Given the description of an element on the screen output the (x, y) to click on. 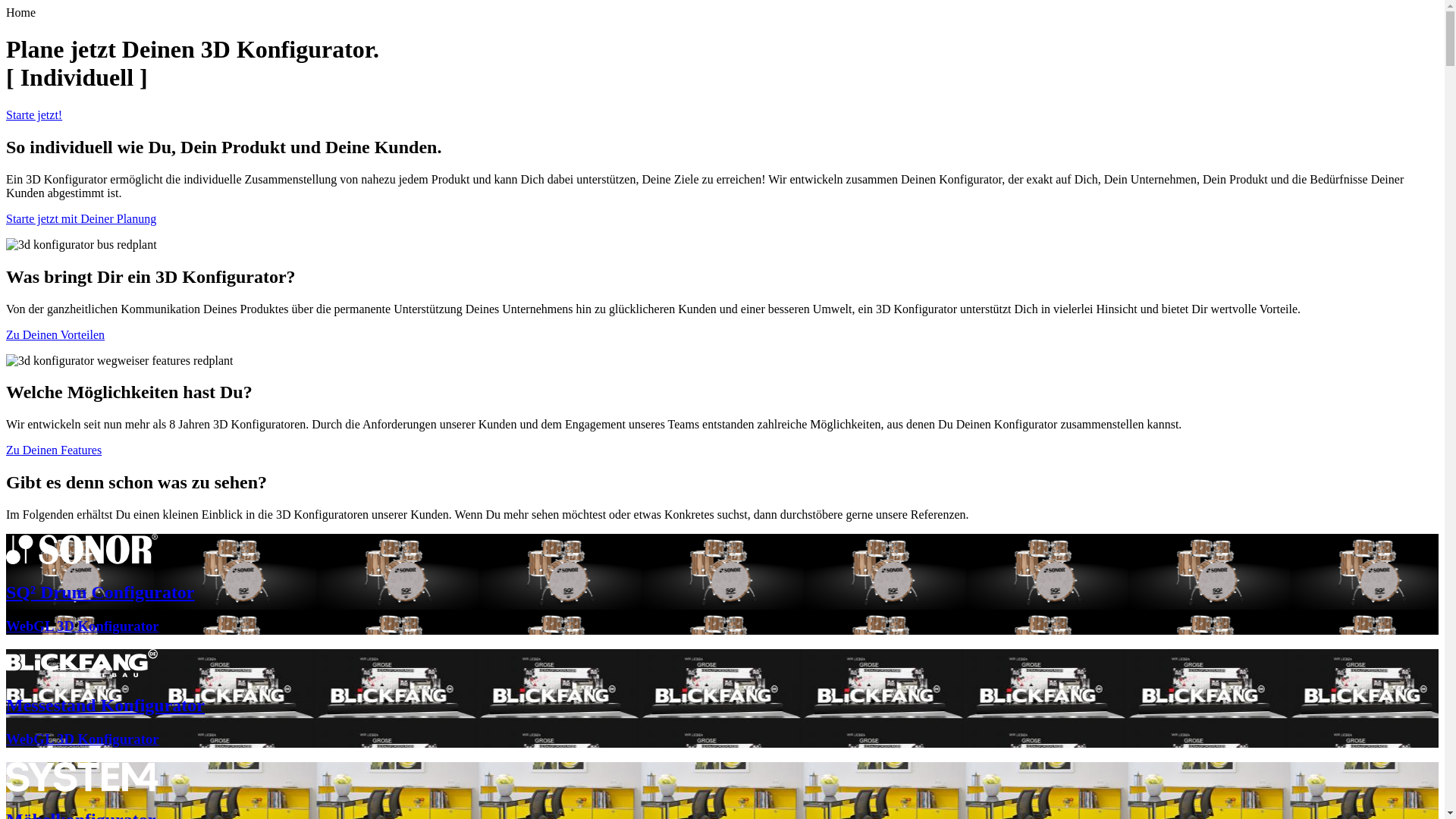
Starte jetzt! Element type: text (34, 114)
Messestand Konfigurator
WebGL 3D Konfigurator Element type: text (722, 698)
Zu Deinen Features Element type: text (53, 449)
Starte jetzt mit Deiner Planung Element type: text (81, 218)
Zu Deinen Vorteilen Element type: text (55, 333)
